Given the description of an element on the screen output the (x, y) to click on. 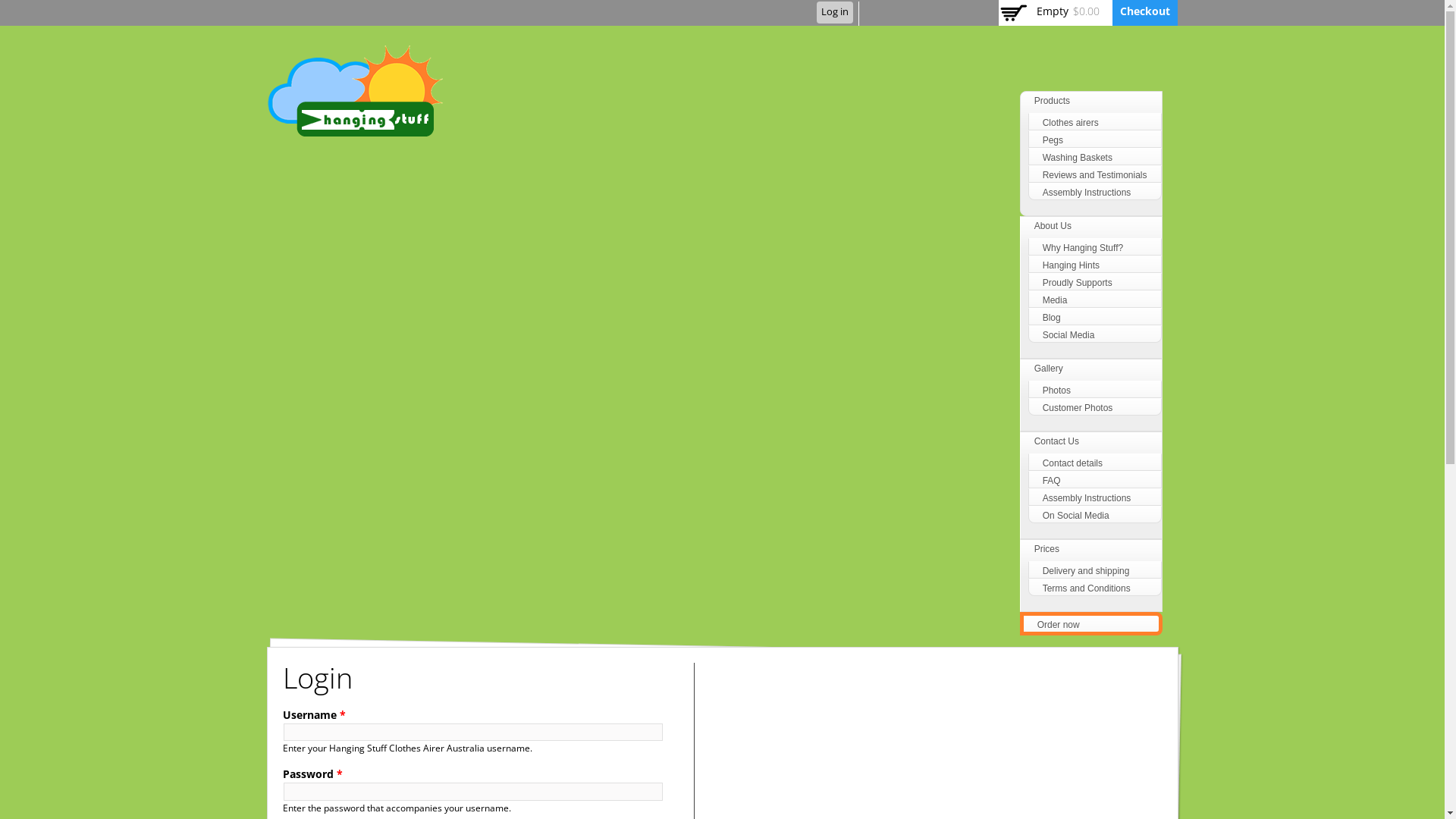
Clothes airers Element type: text (1070, 122)
Social Media Element type: text (1068, 334)
Skip to main content Element type: text (693, 1)
Contact Us Element type: text (1056, 441)
Blog Element type: text (1051, 317)
Hanging Hints Element type: text (1071, 265)
Assembly Instructions Element type: text (1087, 497)
Customer Photos Element type: text (1077, 407)
Order now Element type: text (1058, 624)
Terms and Conditions Element type: text (1086, 588)
On Social Media Element type: text (1076, 515)
Prices Element type: text (1046, 548)
Log in Element type: text (833, 12)
FAQ Element type: text (1051, 480)
Contact details Element type: text (1072, 462)
Gallery Element type: text (1048, 368)
Products Element type: text (1051, 100)
Checkout Element type: text (1144, 10)
Why Hanging Stuff? Element type: text (1083, 247)
About Us Element type: text (1052, 225)
Media Element type: text (1055, 299)
Reviews and Testimonials Element type: text (1095, 174)
Photos Element type: text (1056, 390)
Washing Baskets Element type: text (1077, 157)
Pegs Element type: text (1052, 139)
Proudly Supports Element type: text (1077, 282)
Assembly Instructions Element type: text (1087, 192)
Delivery and shipping Element type: text (1086, 570)
